Given the description of an element on the screen output the (x, y) to click on. 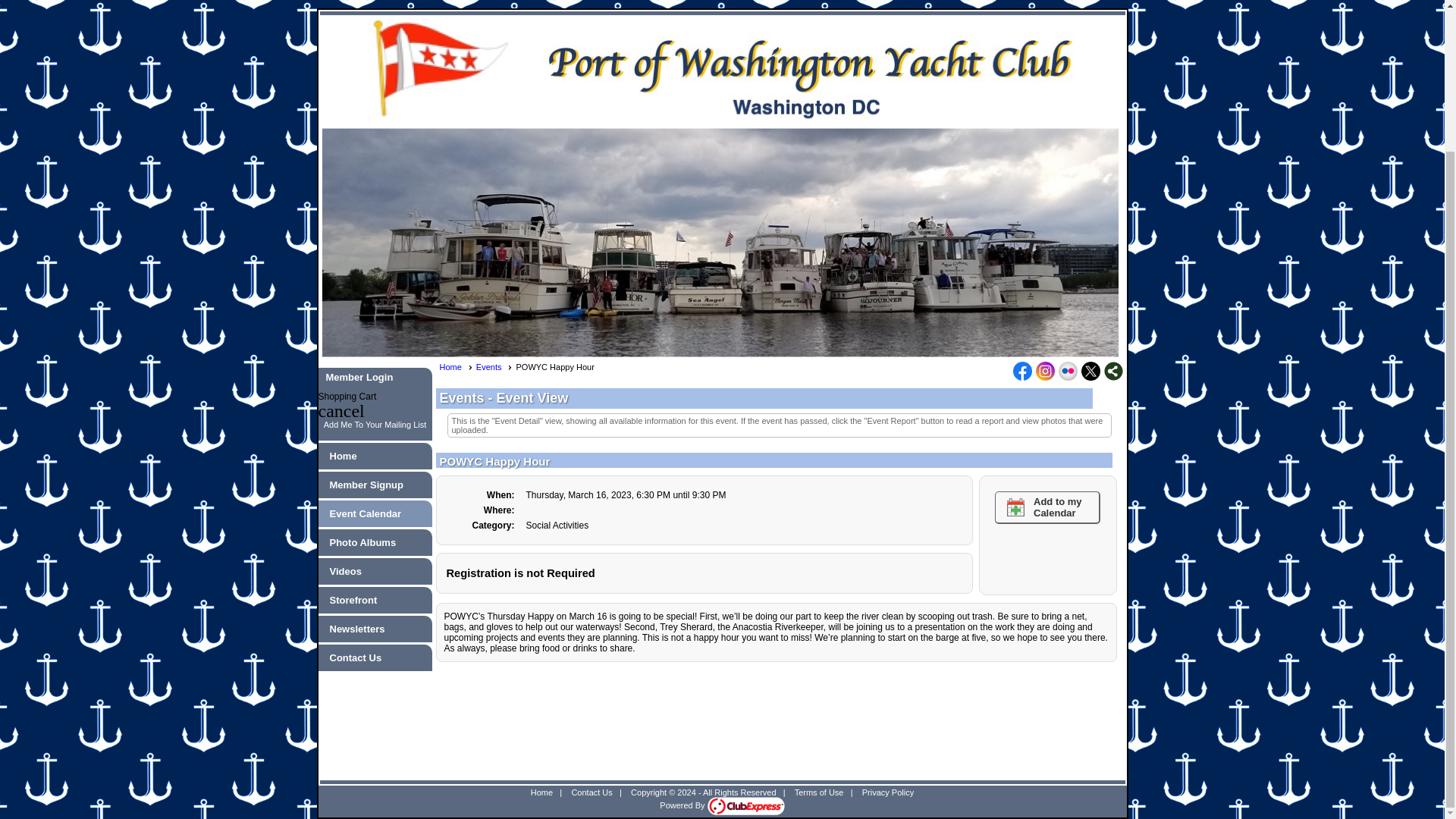
Contact Us (374, 657)
Member Signup (374, 484)
Videos (374, 570)
Member Login (359, 377)
Click here for more sharing options (1112, 370)
Visit us on X (1090, 372)
Visit us on Flickr (1067, 372)
Add Me To Your Mailing List (375, 424)
Newsletters (374, 628)
Home (455, 366)
Add to my Calendar (1047, 507)
Events (494, 366)
Photo Albums (374, 542)
Event Calendar (374, 513)
Visit us on Facebook (1022, 372)
